Given the description of an element on the screen output the (x, y) to click on. 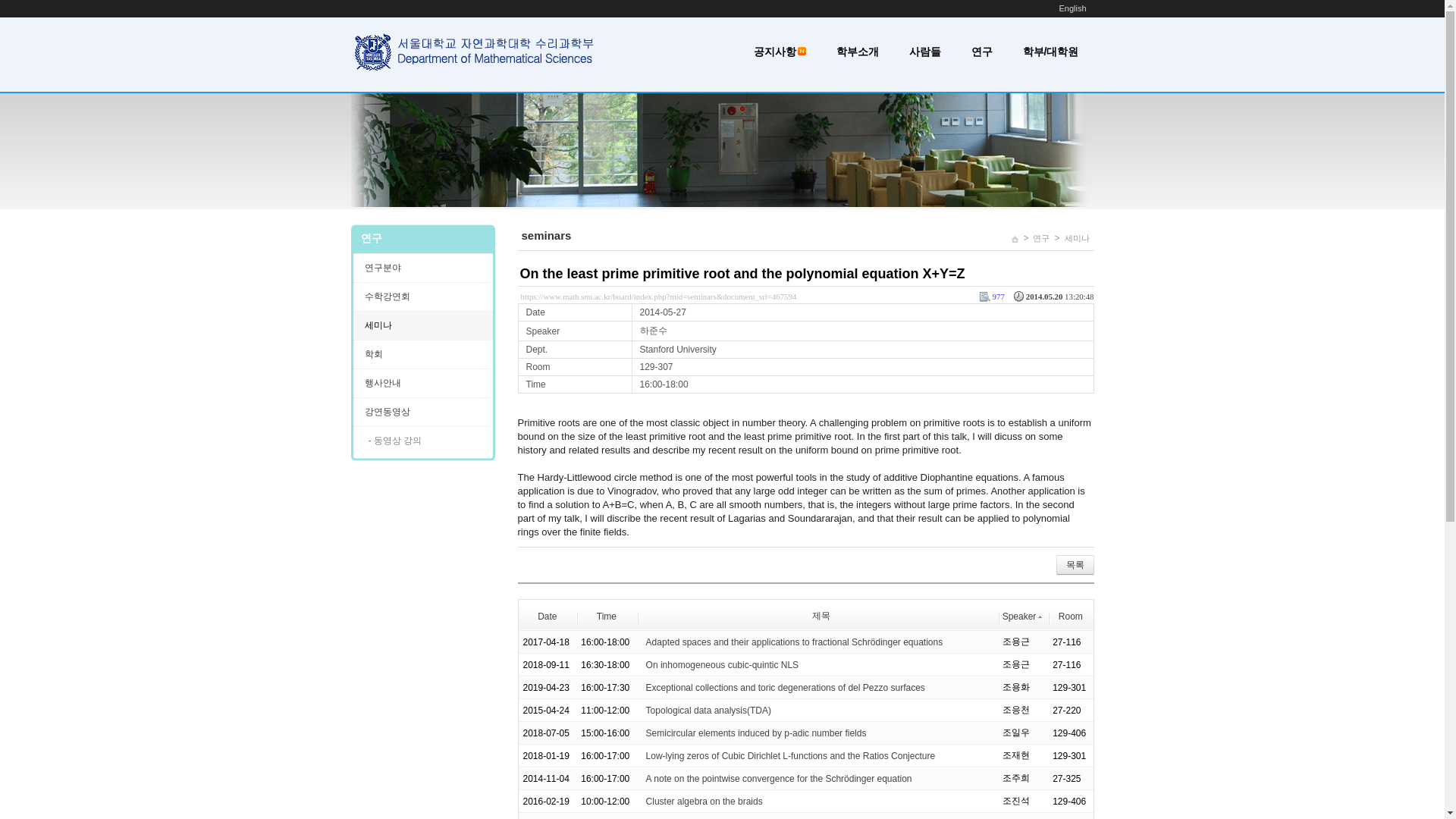
English (1072, 8)
On inhomogeneous cubic-quintic NLS (721, 665)
Time (605, 615)
Speaker (1023, 615)
Room (1070, 615)
new (801, 50)
Date (546, 615)
